Given the description of an element on the screen output the (x, y) to click on. 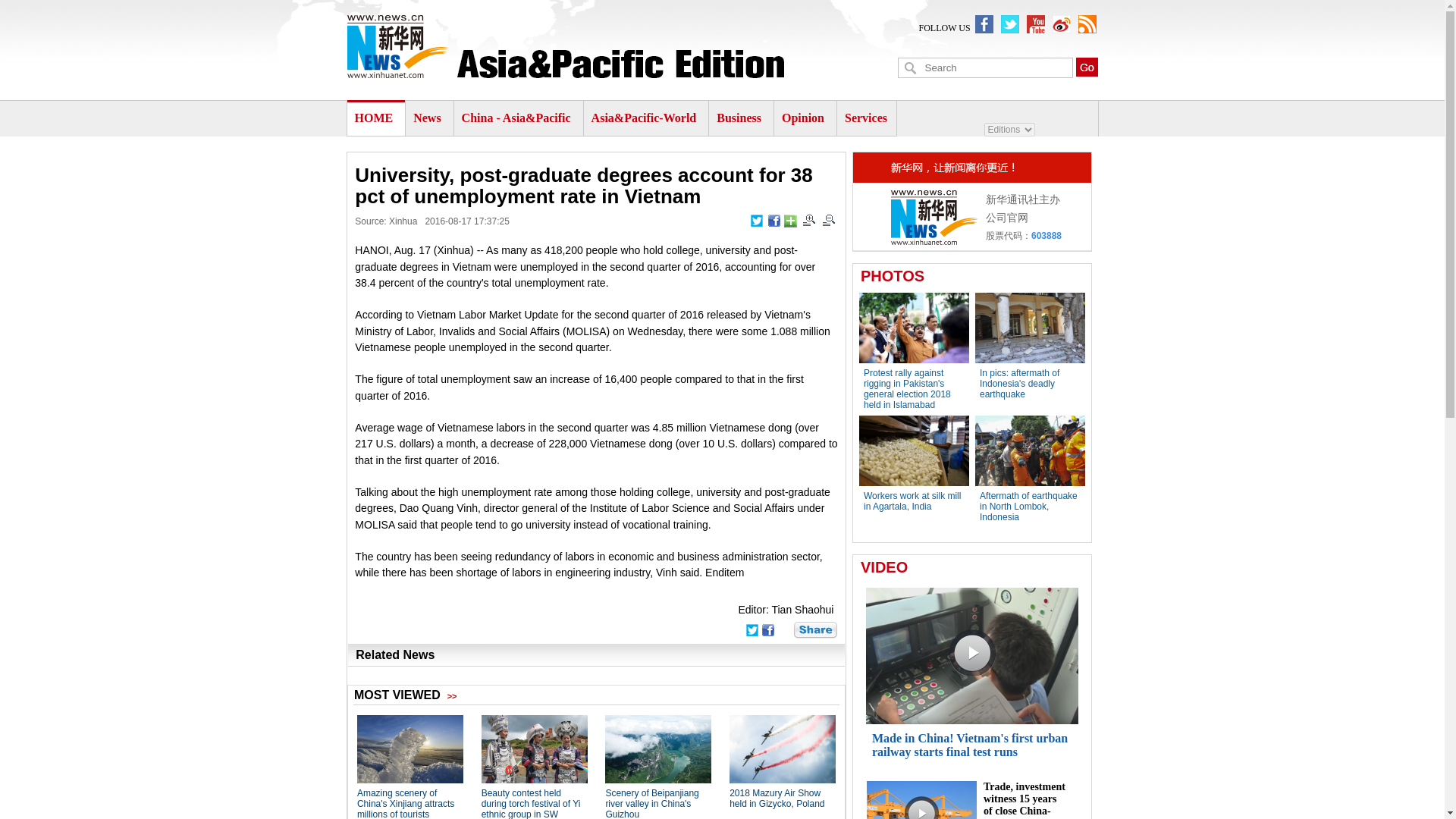
Business (738, 117)
Go (1086, 66)
xinhuaenglish weibo (1061, 24)
newsxinhuanet facebook (983, 24)
More (790, 220)
News (427, 117)
xinhuanet english rss (1087, 24)
Services (865, 117)
HOME (374, 117)
More (815, 629)
Go (1086, 66)
Opinion (802, 117)
XinhuanetNews twitter (1010, 24)
XinhuanetNews youbute (1035, 24)
